Given the description of an element on the screen output the (x, y) to click on. 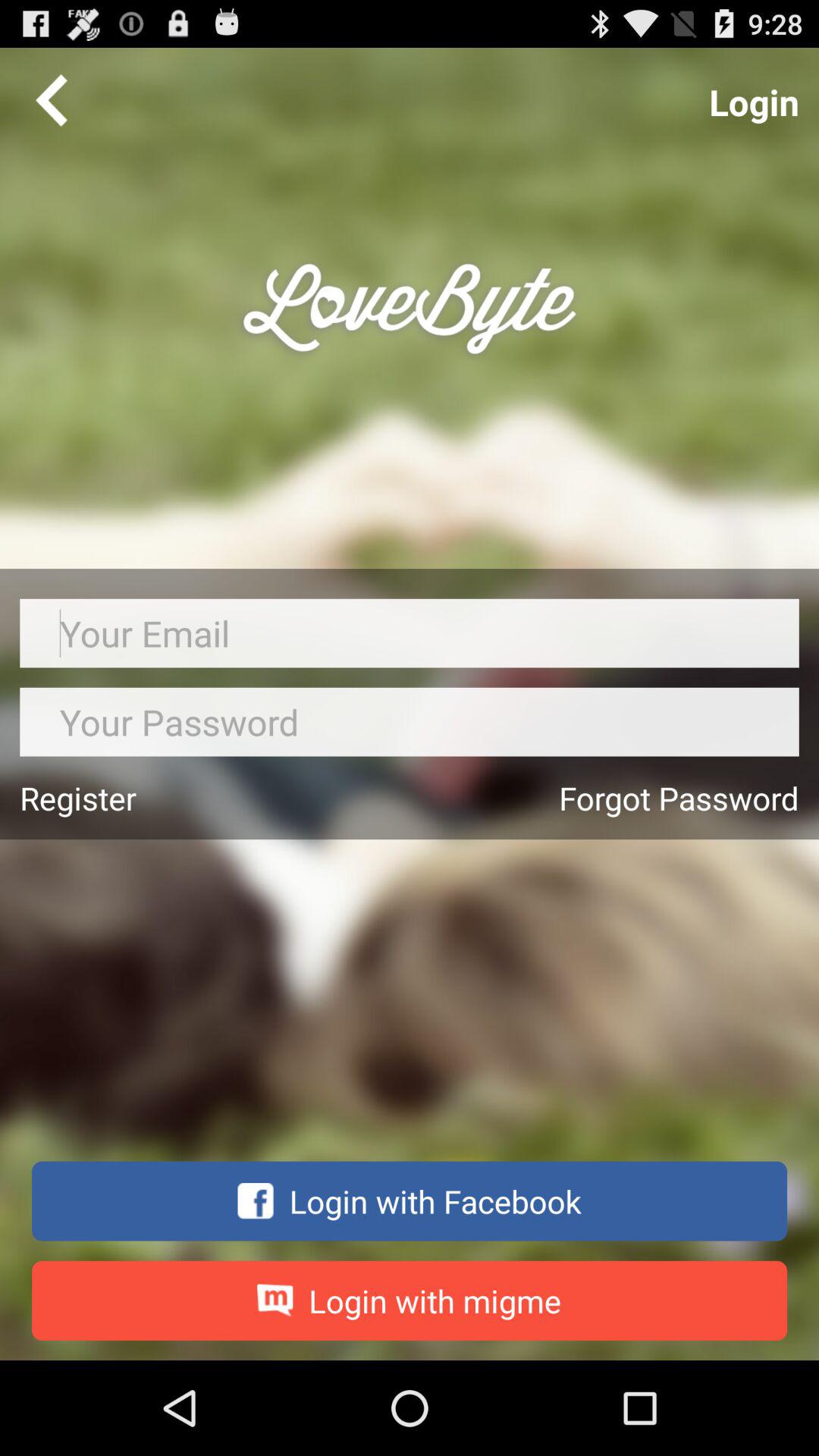
input password (409, 721)
